Given the description of an element on the screen output the (x, y) to click on. 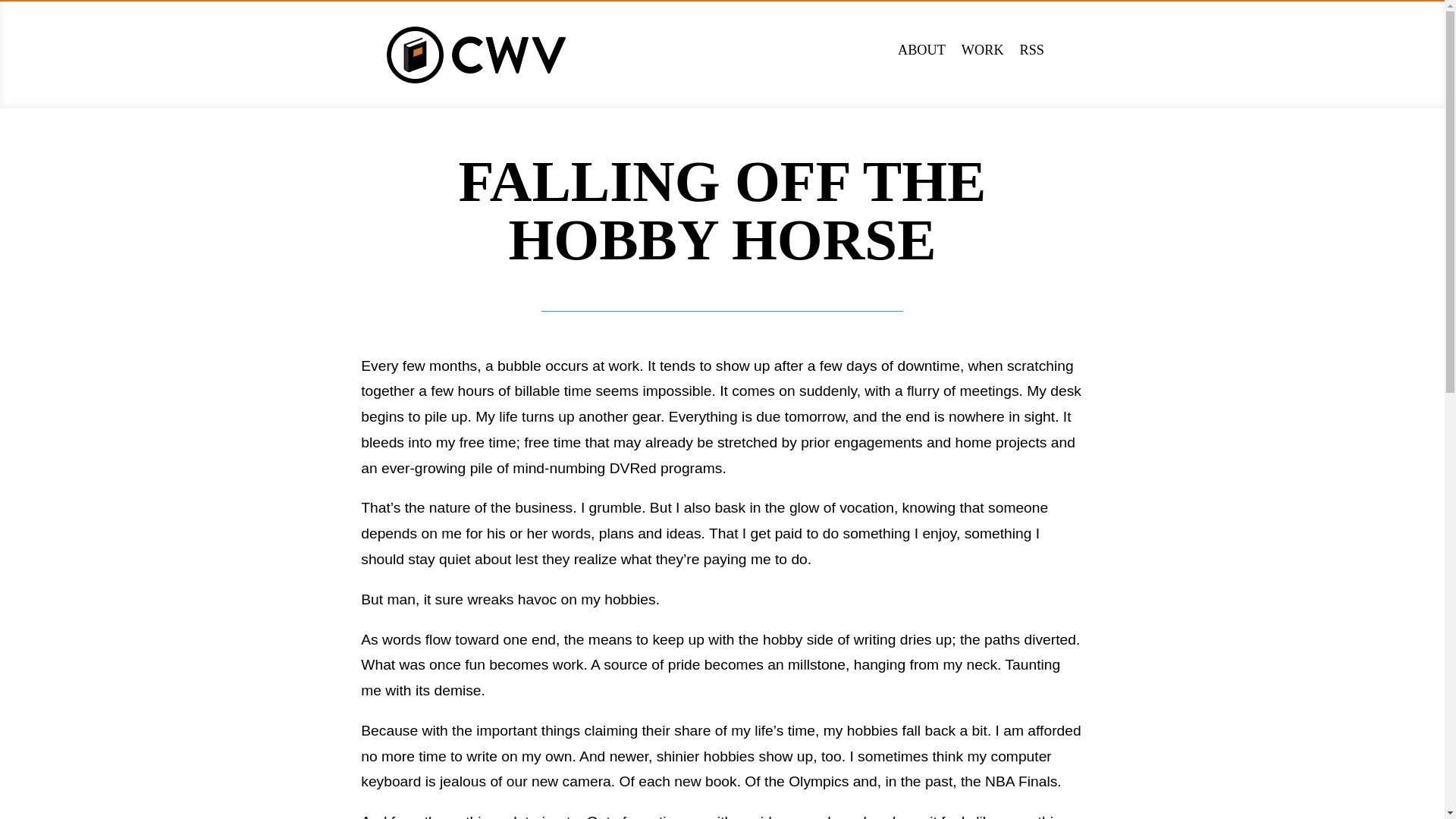
ABOUT (921, 49)
WORK (982, 49)
RSS (1032, 49)
